Given the description of an element on the screen output the (x, y) to click on. 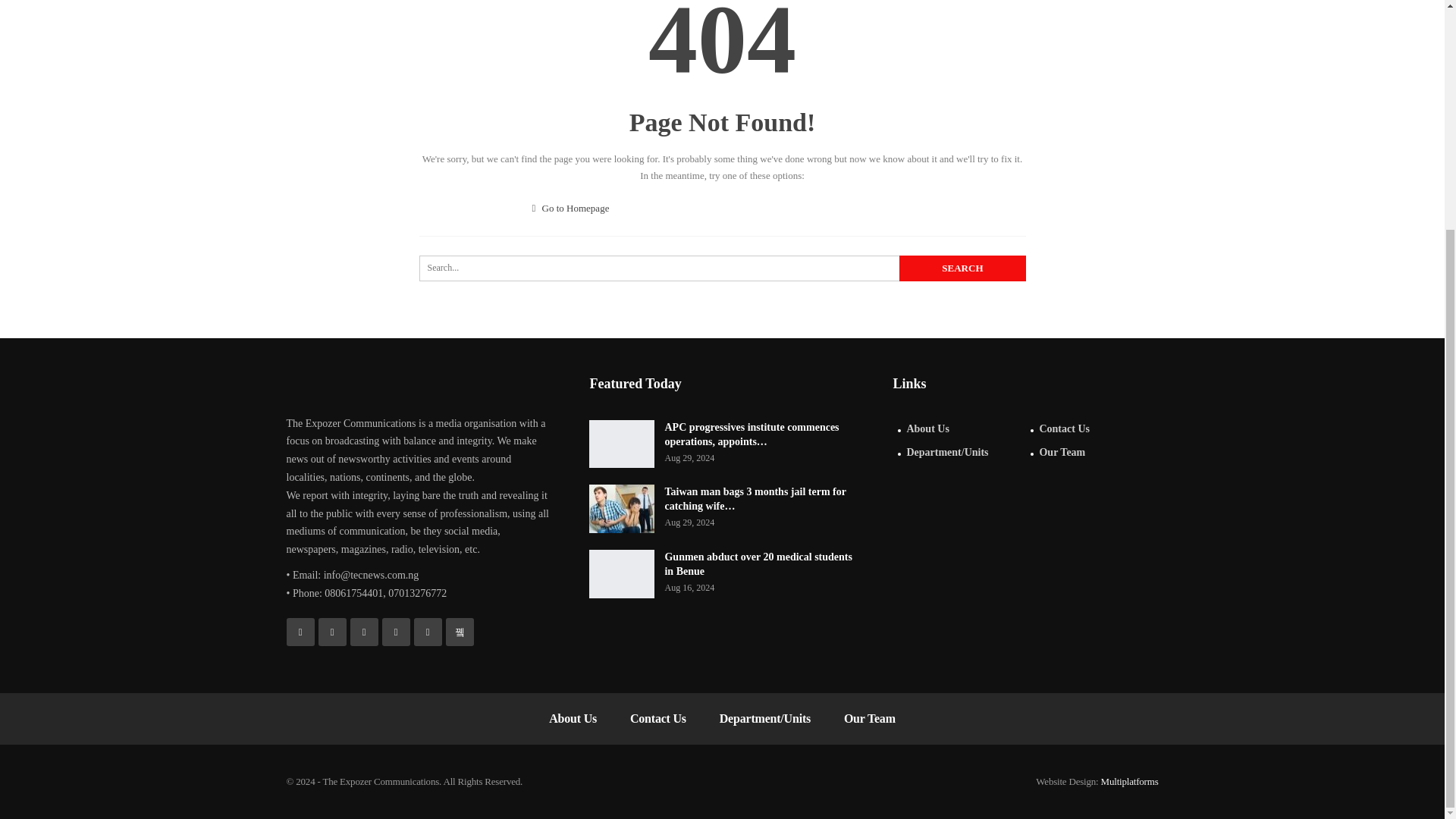
Search (962, 268)
Search (962, 268)
Gunmen abduct over 20 medical students in Benue (621, 573)
Search (962, 268)
Search for: (722, 268)
Go to Homepage (571, 207)
